Given the description of an element on the screen output the (x, y) to click on. 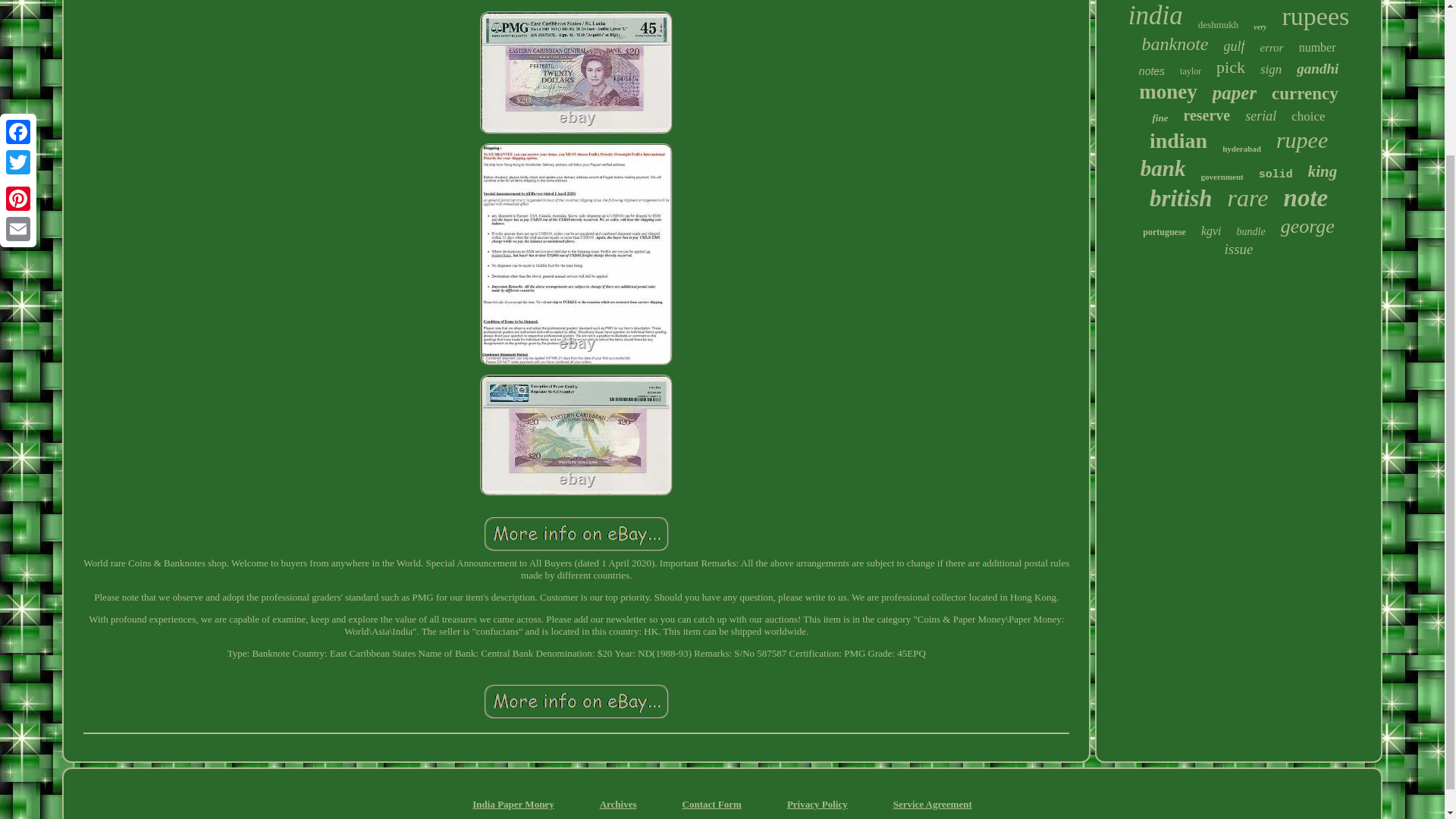
Email (17, 42)
reserve (1206, 115)
banknote (1174, 44)
paper (1234, 93)
notes (1151, 70)
error (1272, 47)
rupees (1315, 16)
pick (1229, 66)
gulf (1234, 46)
india (1155, 15)
indian (1178, 140)
gandhi (1317, 68)
money (1167, 92)
taylor (1190, 71)
serial (1260, 116)
